Given the description of an element on the screen output the (x, y) to click on. 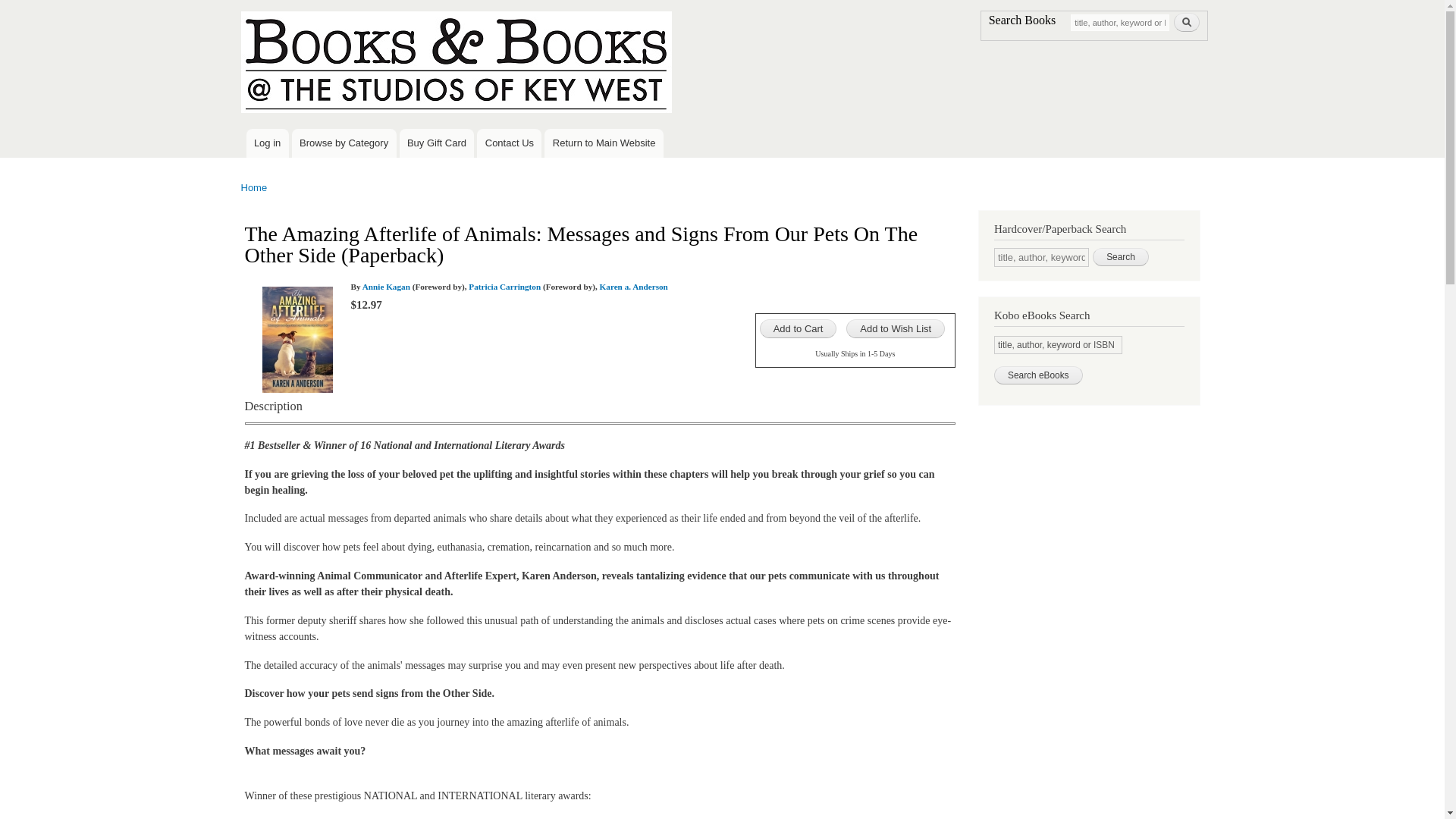
Enter the terms you wish to search for. (1119, 21)
Enter the terms you wish to search for. (1041, 257)
Search (1120, 257)
Return to Main Website (603, 143)
Home (457, 64)
Annie Kagan (386, 286)
Add to Cart (798, 328)
Add to Wish List (894, 328)
Log in (267, 143)
Skip to main content (690, 1)
Browse by Category (344, 143)
Buy Gift Card (436, 143)
Search (1186, 22)
Search eBooks (1038, 375)
Home (254, 187)
